Given the description of an element on the screen output the (x, y) to click on. 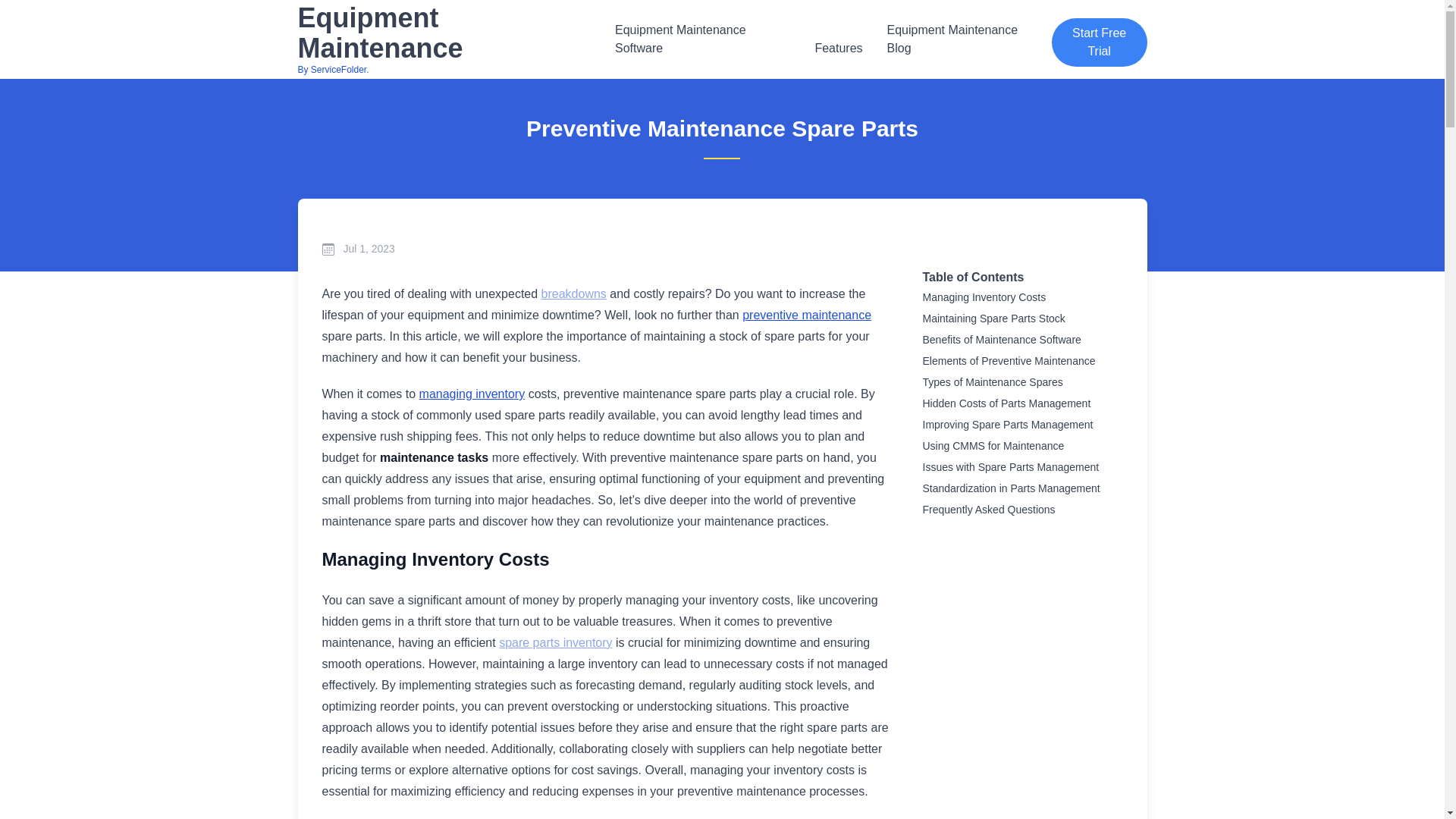
spare parts inventory (449, 39)
Start Free Trial (555, 642)
preventive maintenance (1099, 42)
managing inventory (806, 314)
breakdowns (472, 393)
Equipment Maintenance Blog (574, 293)
Equipment Maintenance Software (963, 39)
Features (702, 39)
